Given the description of an element on the screen output the (x, y) to click on. 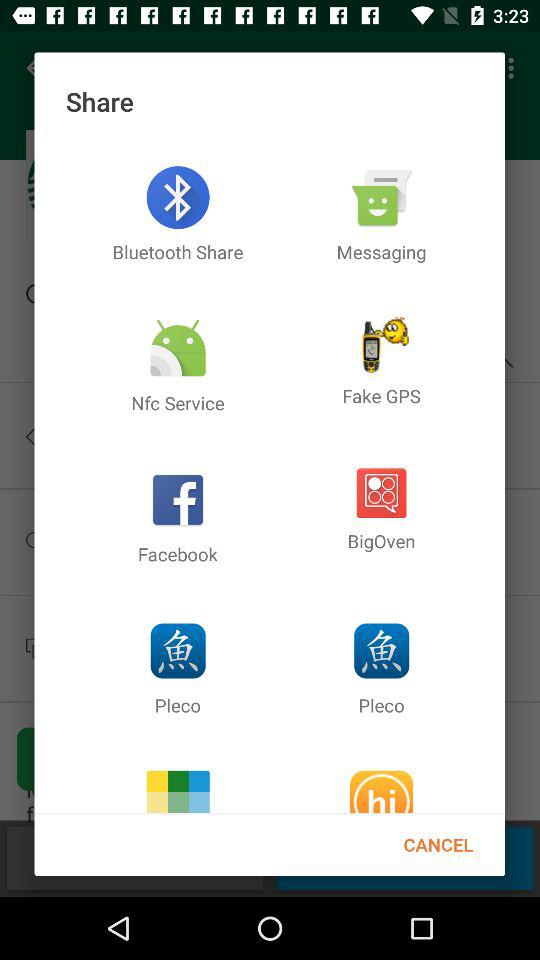
swipe until cancel item (438, 844)
